Given the description of an element on the screen output the (x, y) to click on. 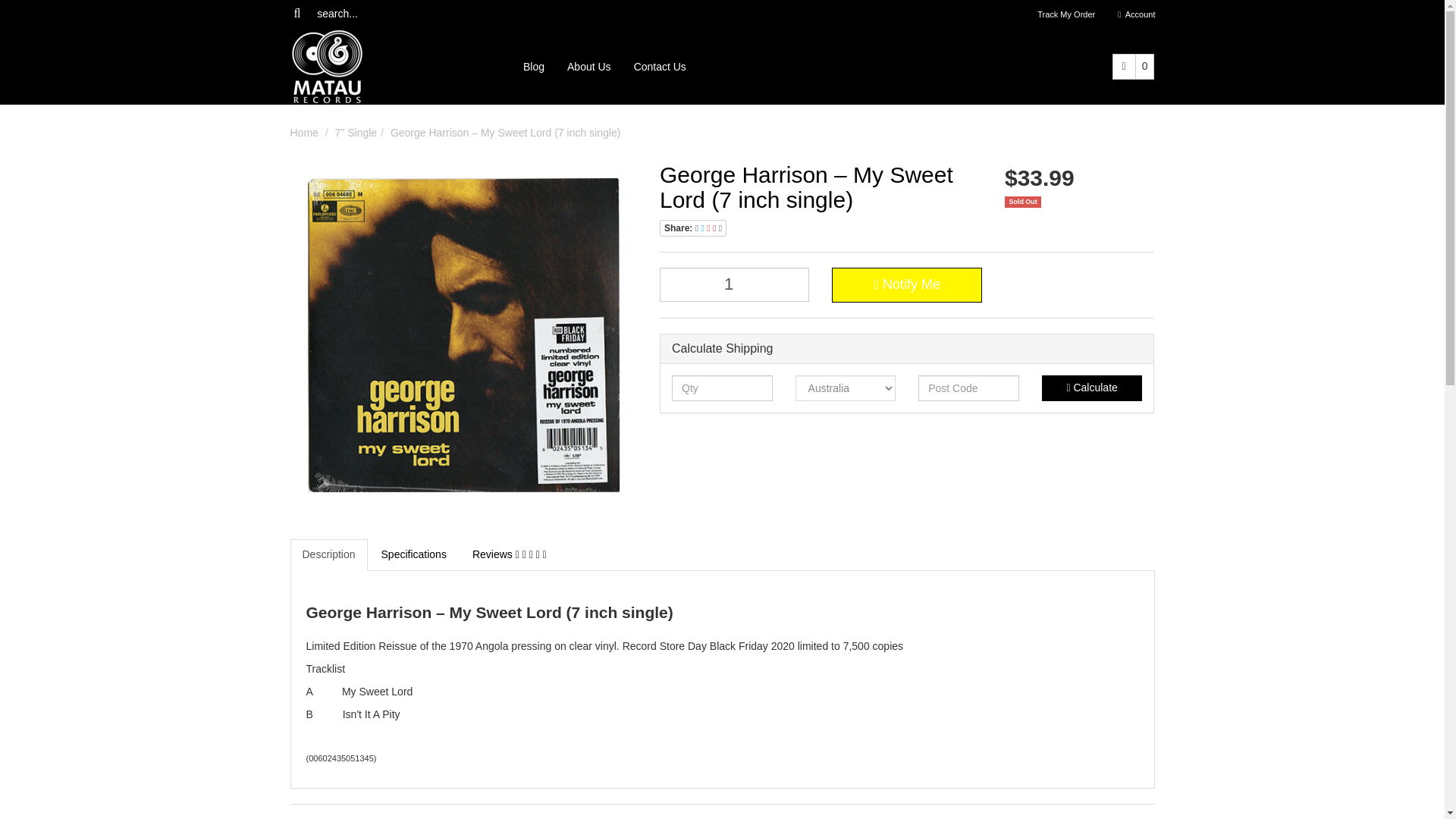
Share: (692, 228)
7" Single (355, 132)
Description (327, 554)
Track My Order (1066, 14)
Contact Us (660, 66)
Specifications (413, 554)
Track my order (1066, 14)
Calculate (1092, 388)
Calculate (1092, 388)
Reviews (509, 554)
